Given the description of an element on the screen output the (x, y) to click on. 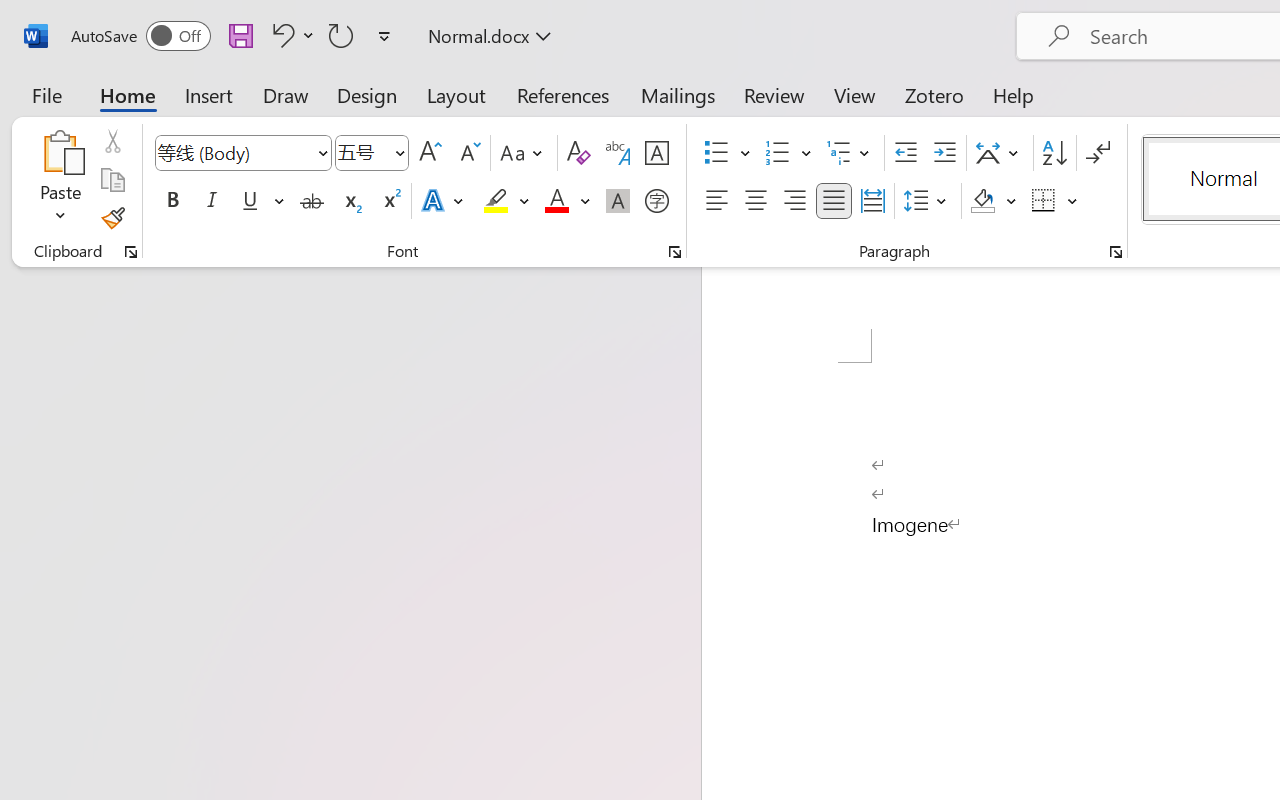
Center (756, 201)
